Given the description of an element on the screen output the (x, y) to click on. 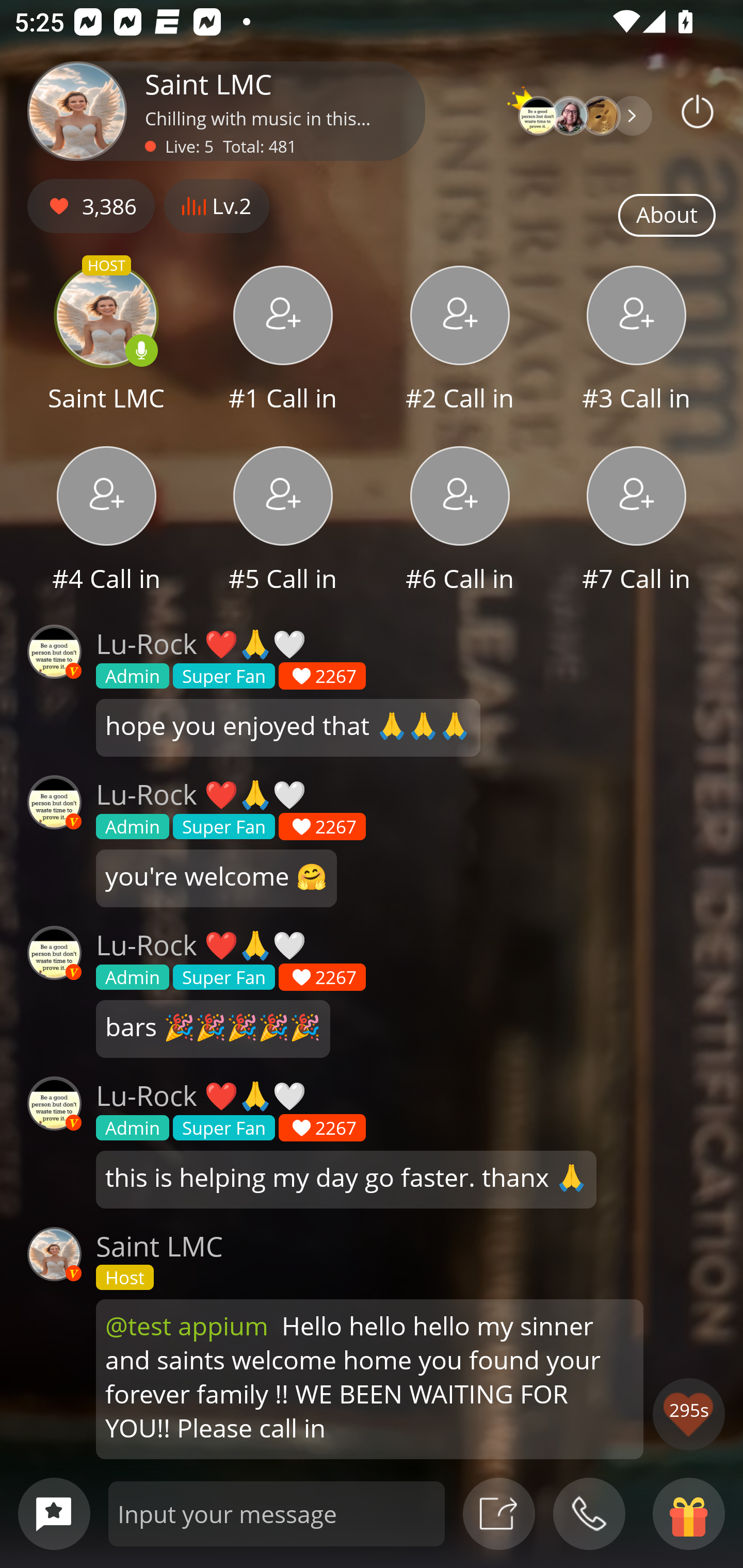
Podbean (697, 111)
About (666, 215)
HOST Saint LMC (105, 340)
#1 Call in (282, 340)
#2 Call in (459, 340)
#3 Call in (636, 340)
#4 Call in (105, 521)
#5 Call in (282, 521)
#6 Call in (459, 521)
#7 Call in (636, 521)
Input your message (276, 1513)
